Given the description of an element on the screen output the (x, y) to click on. 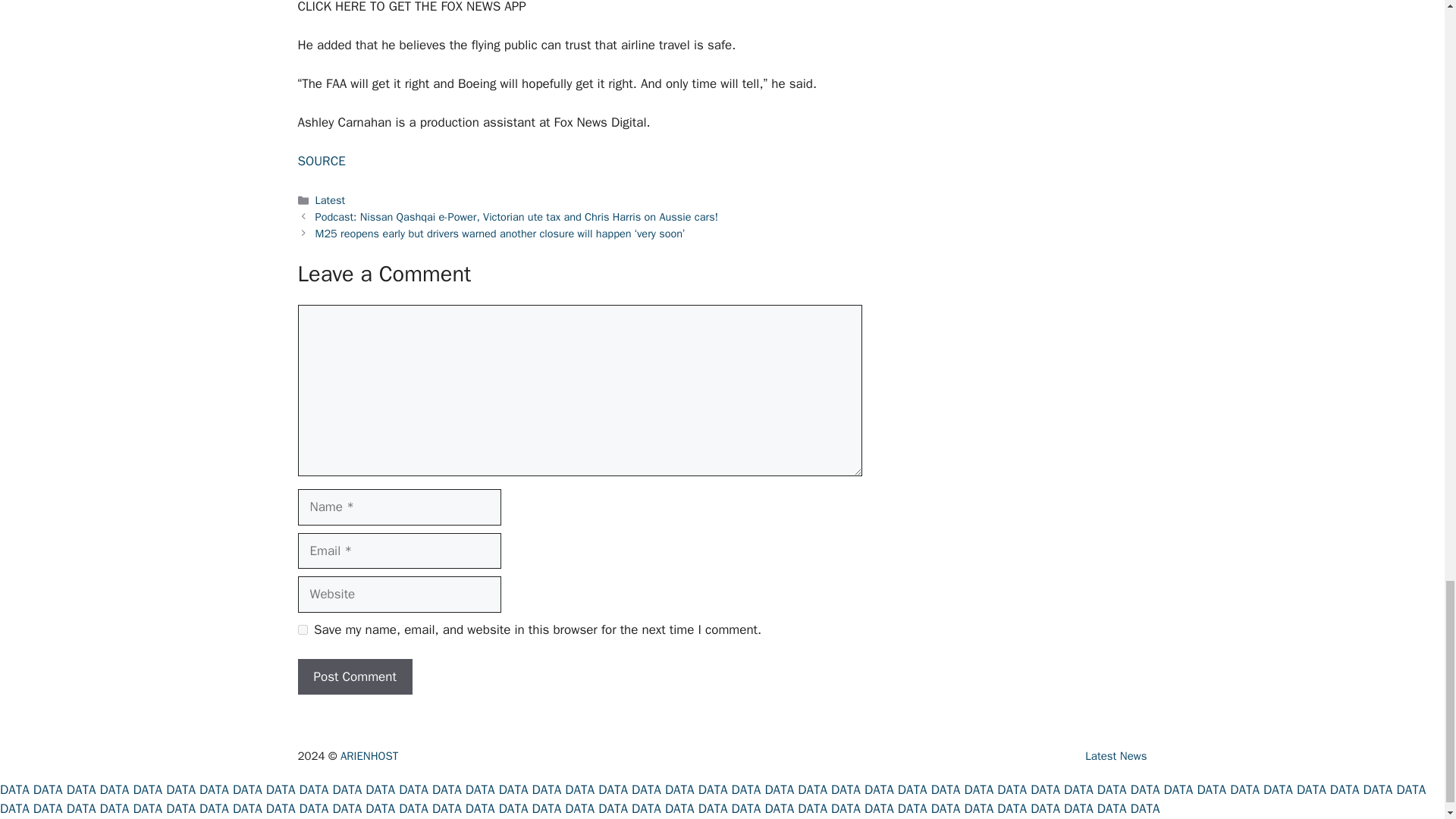
DATA (146, 789)
DATA (14, 789)
DATA (47, 789)
Latest (330, 200)
DATA (81, 789)
DATA (213, 789)
DATA (280, 789)
DATA (114, 789)
Post Comment (354, 677)
Latest News (1115, 755)
ARIENHOST (368, 755)
Post Comment (354, 677)
SOURCE (321, 160)
DATA (180, 789)
